Given the description of an element on the screen output the (x, y) to click on. 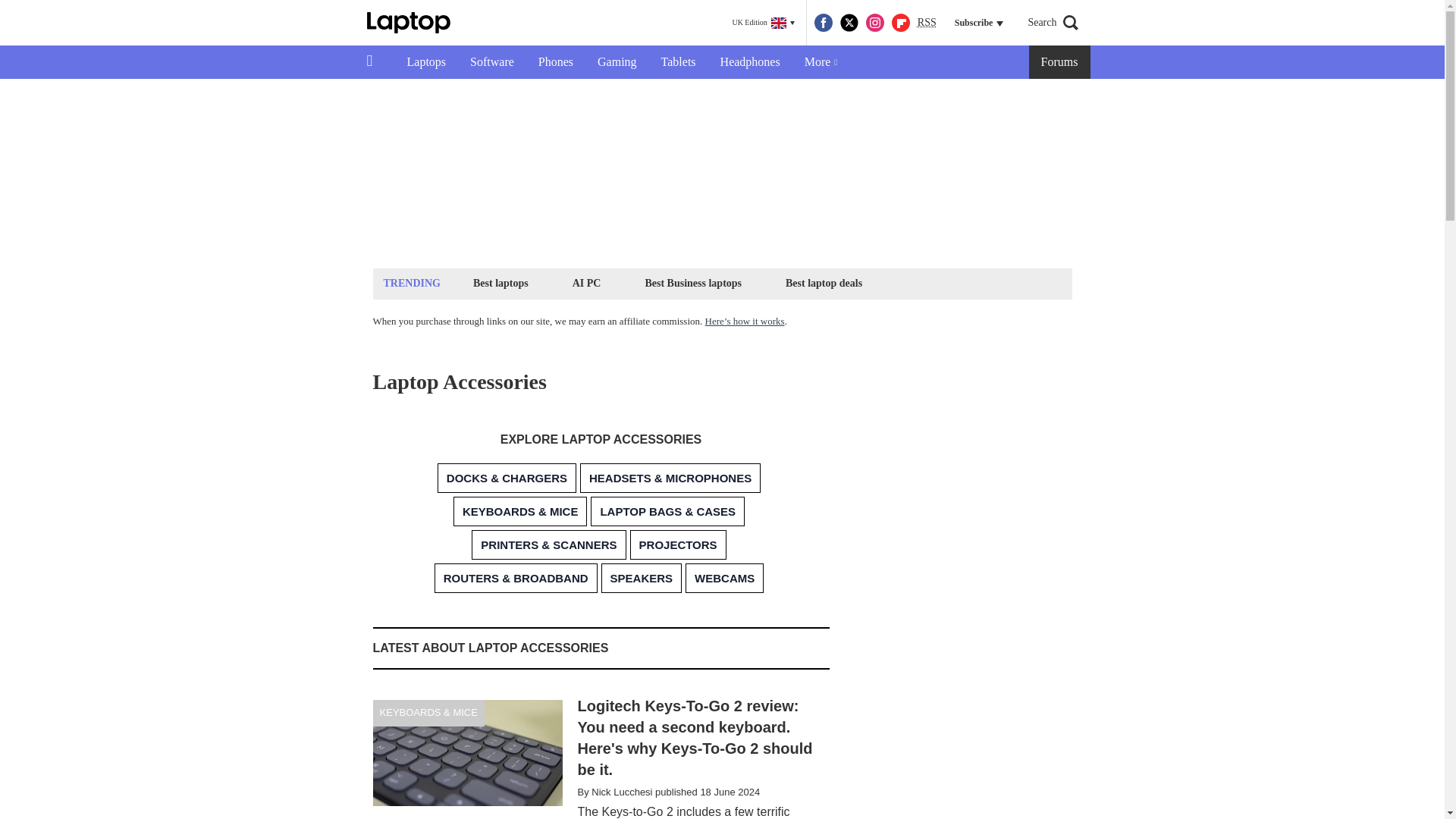
Phones (555, 61)
Best laptops (500, 282)
Gaming (617, 61)
UK Edition (762, 22)
Tablets (678, 61)
Really Simple Syndication (926, 21)
Software (491, 61)
Best Business laptops (692, 282)
RSS (926, 22)
Laptops (426, 61)
AI PC (587, 282)
Headphones (749, 61)
Forums (1059, 61)
Best laptop deals (823, 282)
